Given the description of an element on the screen output the (x, y) to click on. 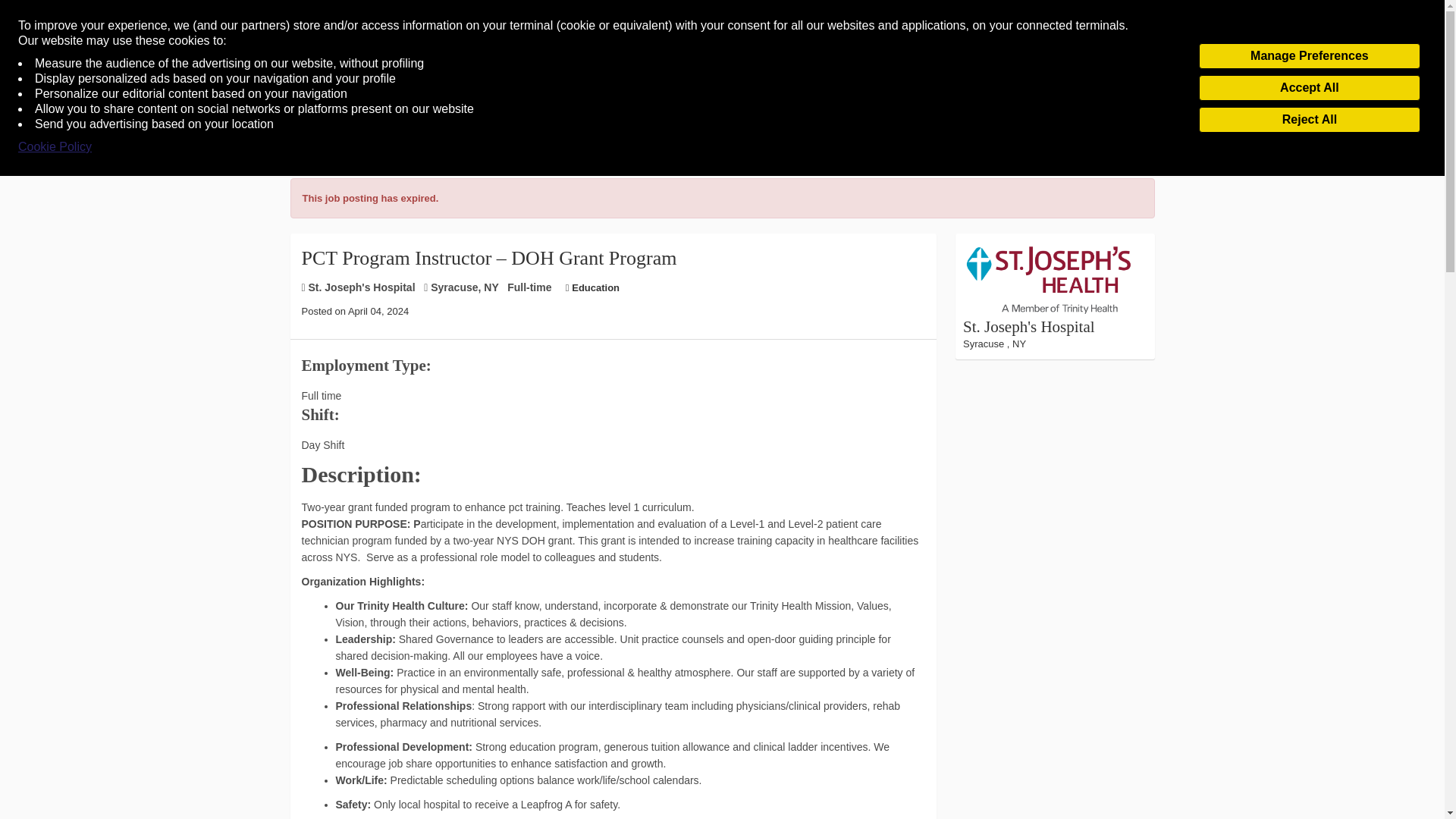
Reject All (1309, 119)
syracuse.com (720, 87)
Manage Preferences (1309, 55)
Menu (40, 89)
Accept All (1309, 87)
Cookie Policy (54, 146)
syracuse.com (720, 87)
